Given the description of an element on the screen output the (x, y) to click on. 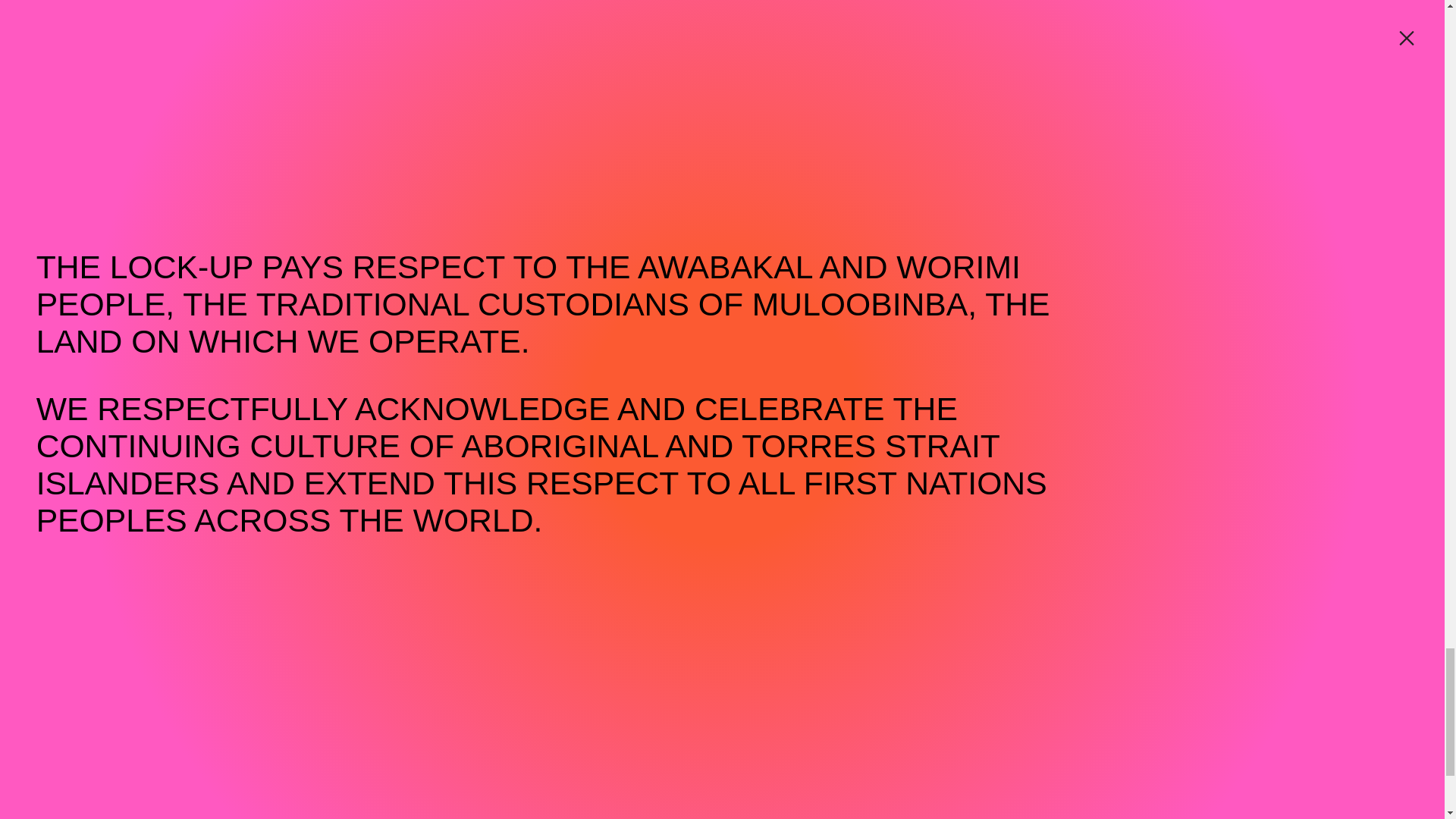
Search (1327, 690)
